Given the description of an element on the screen output the (x, y) to click on. 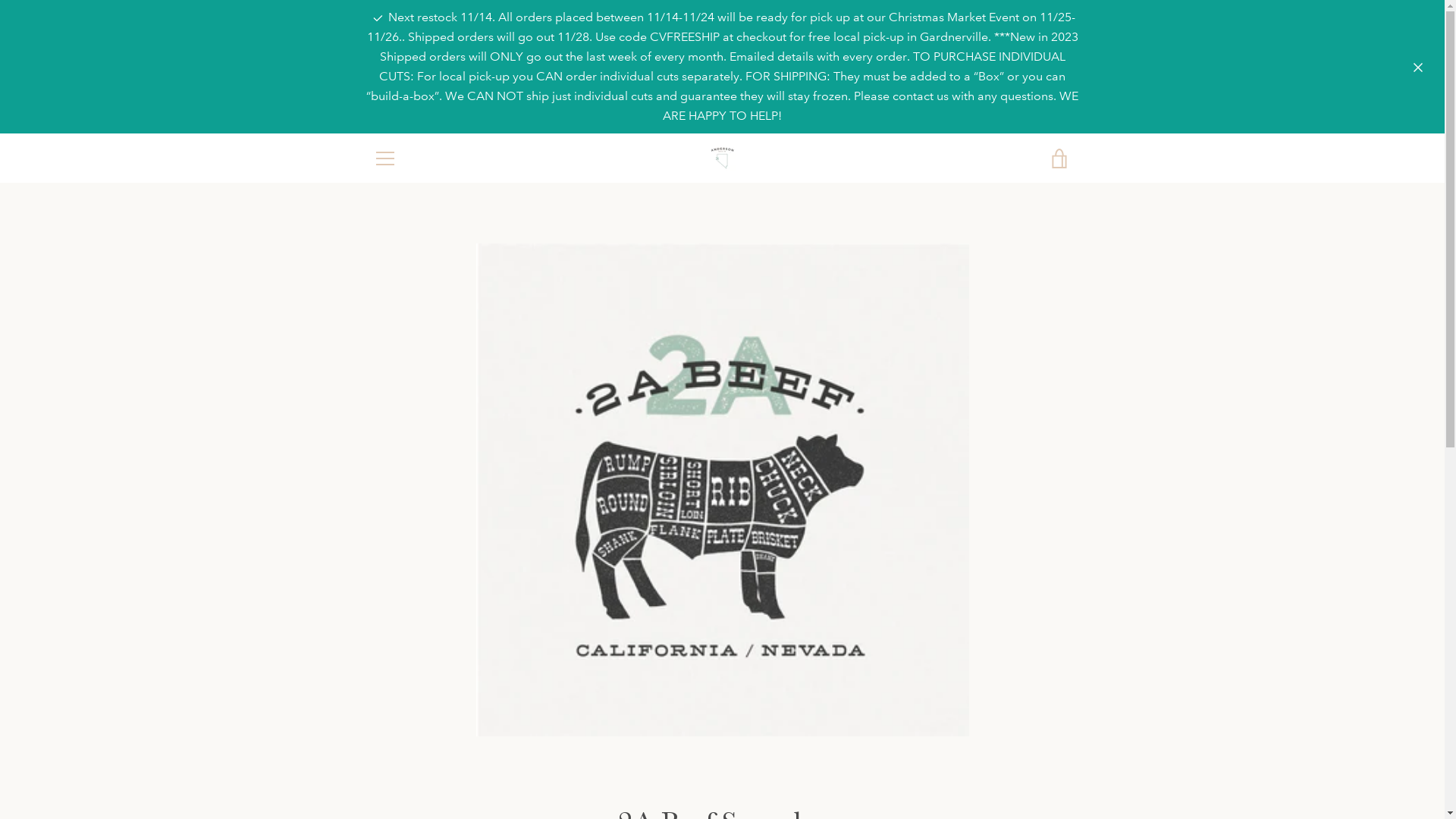
VIEW CART Element type: text (1059, 158)
Instagram Element type: text (398, 765)
MEMBERSHIP PORTAL Element type: text (429, 677)
Powered by Shopify Element type: text (784, 766)
MENU Element type: text (384, 158)
CONTACT US Element type: text (406, 654)
2A Beef Element type: text (717, 766)
Skip to content Element type: text (0, 0)
HOME PAGE Element type: text (404, 632)
Facebook Element type: text (372, 765)
SUBSCRIBE Element type: text (1031, 679)
SEARCH Element type: text (393, 609)
